Given the description of an element on the screen output the (x, y) to click on. 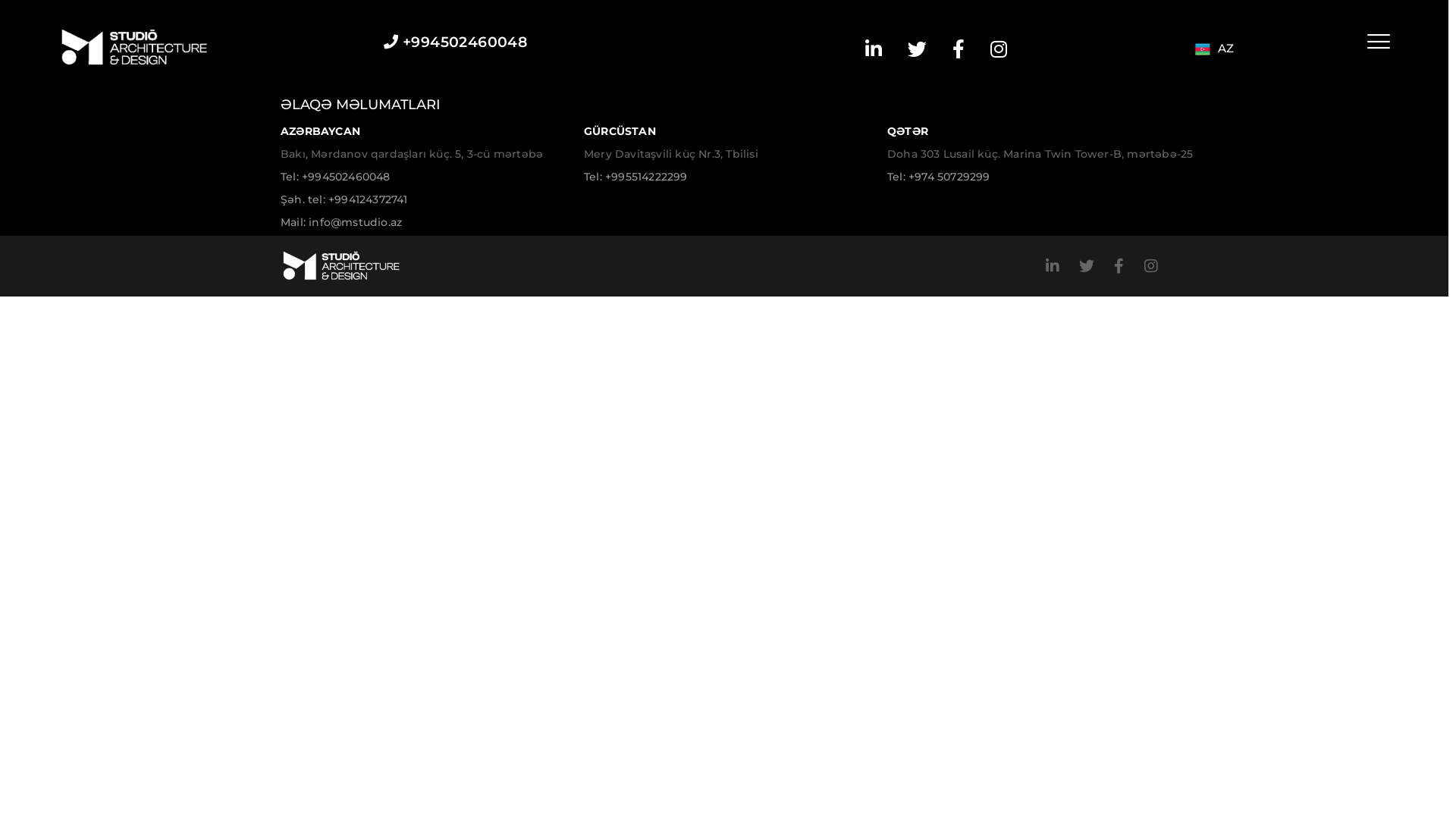
Tel: +995514222299 Element type: text (635, 176)
Mail: info@mstudio.az Element type: text (340, 222)
MStudio Element type: hover (134, 46)
Tel: +974 50729299 Element type: text (938, 176)
Tel: +994502460048 Element type: text (335, 176)
+994502460048 Element type: text (455, 41)
